Given the description of an element on the screen output the (x, y) to click on. 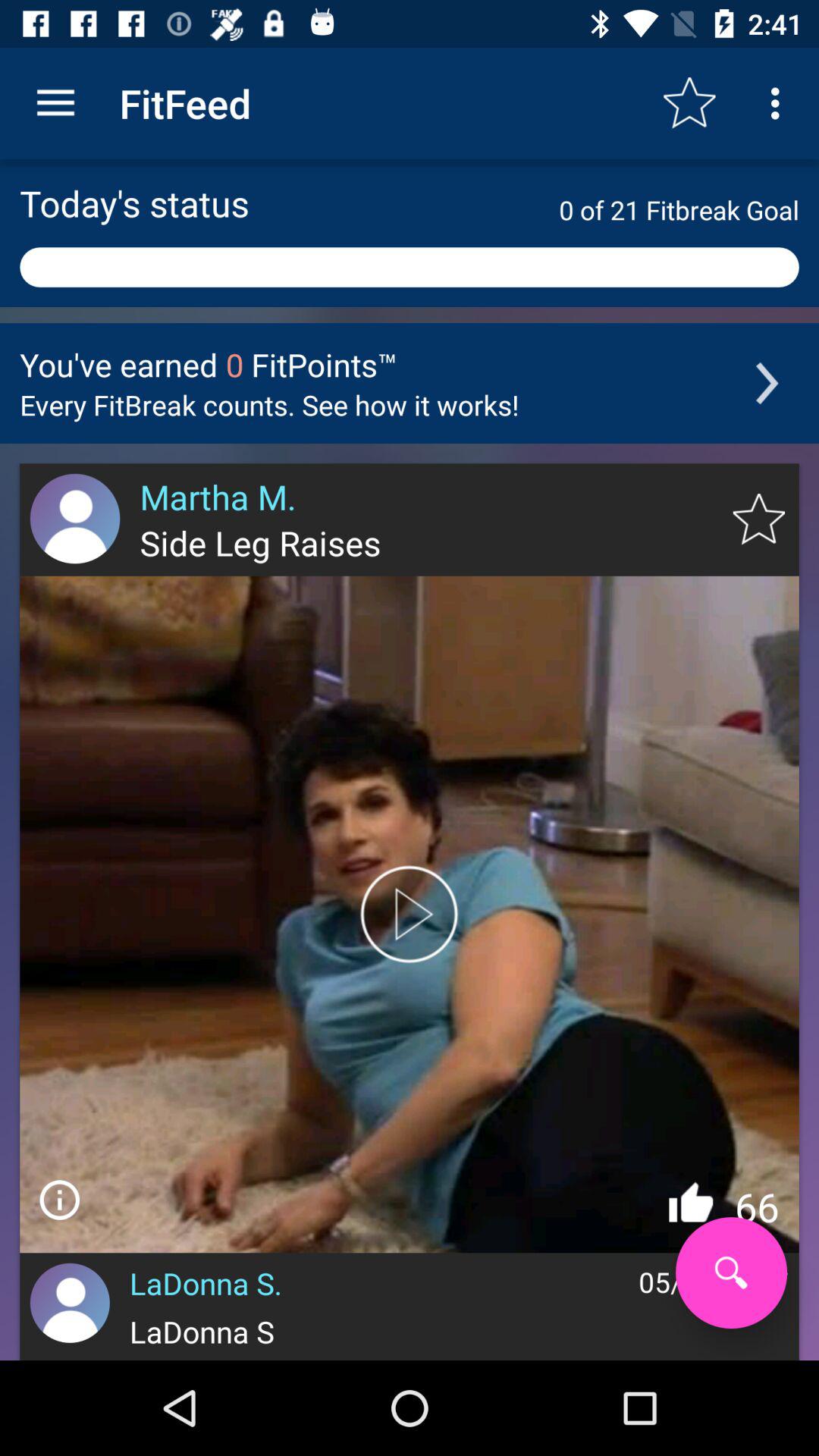
search tool (731, 1272)
